Given the description of an element on the screen output the (x, y) to click on. 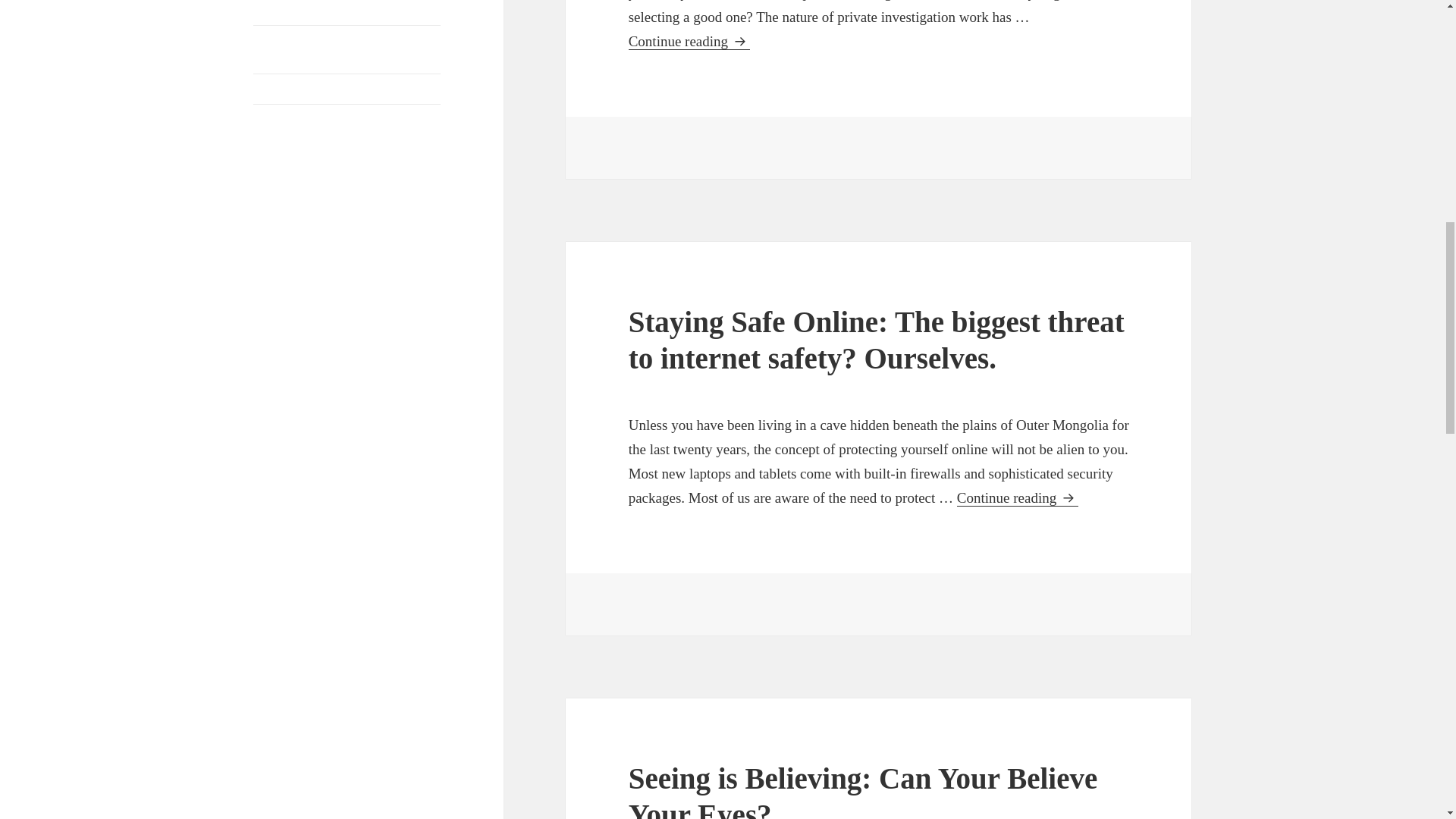
Why would I need to hire a Private Investigator? (338, 127)
Seeing is Believing: Can Your Believe Your Eyes? (862, 790)
Law and disorder (295, 9)
